Given the description of an element on the screen output the (x, y) to click on. 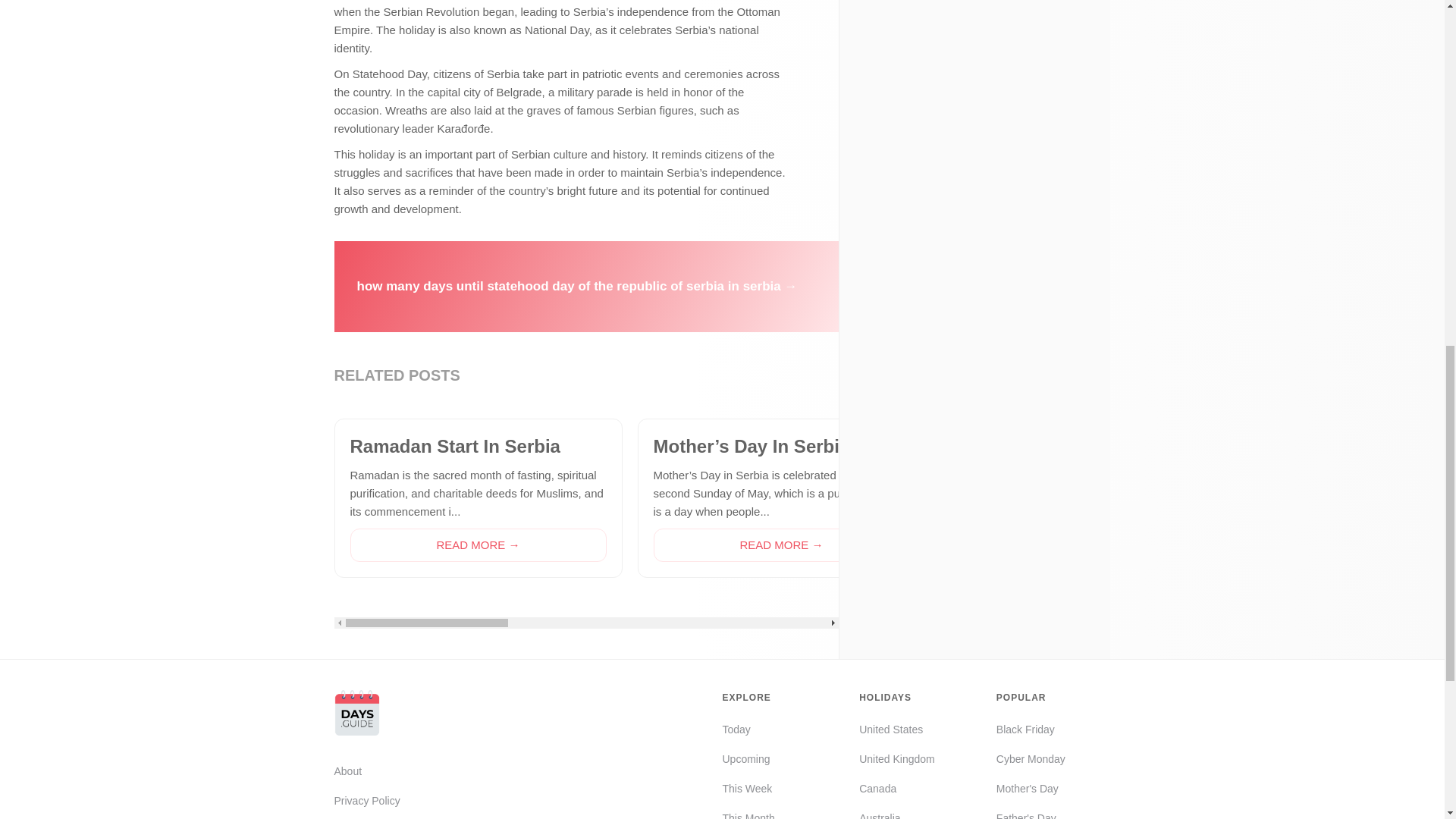
This Week (748, 788)
United States (896, 729)
About (384, 771)
Privacy Policy (384, 800)
Today (748, 729)
This Month (748, 814)
Upcoming (748, 759)
United Kingdom (896, 759)
